Given the description of an element on the screen output the (x, y) to click on. 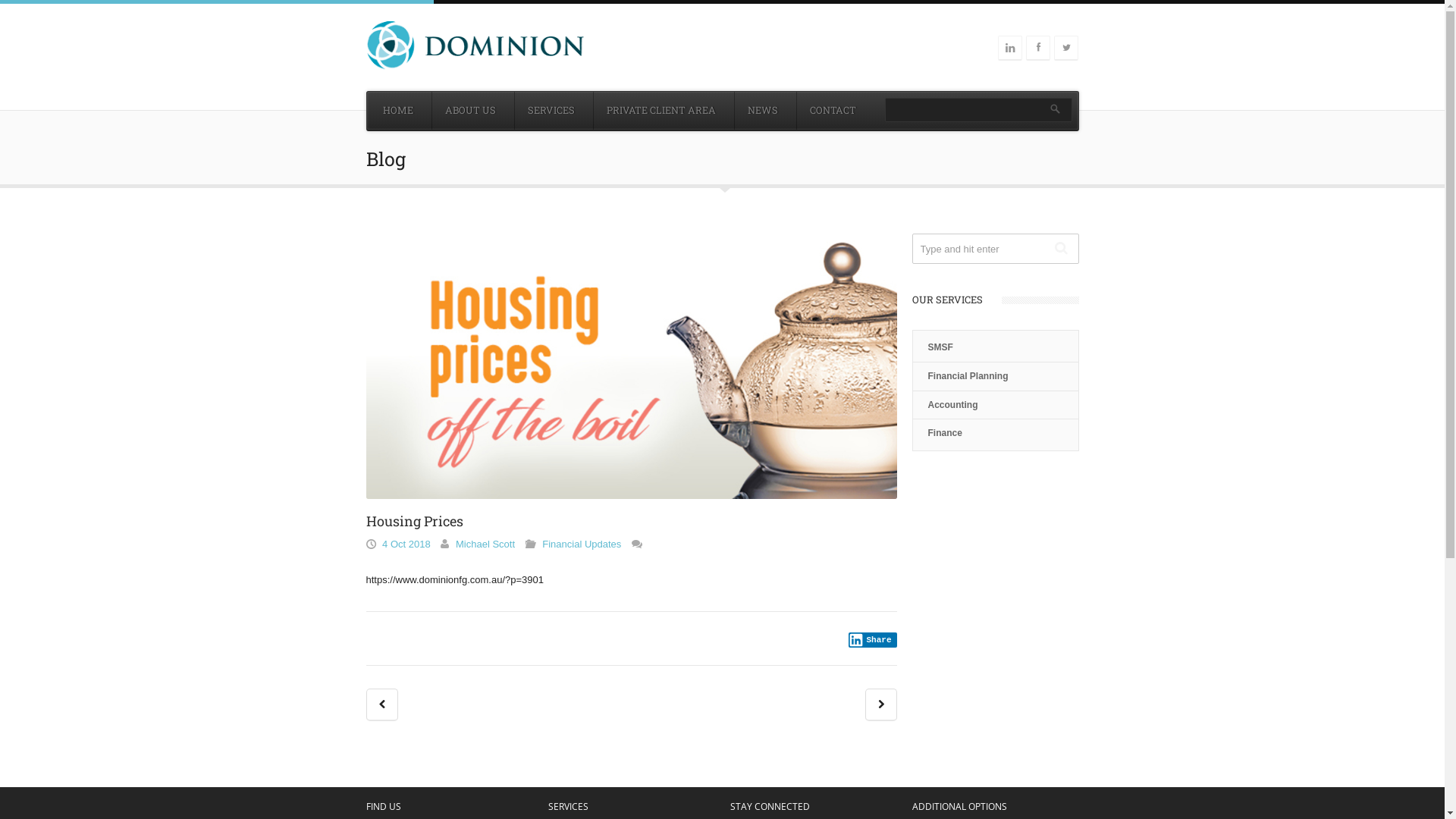
Twitter Element type: hover (1065, 58)
SMSF Element type: text (940, 347)
Linkedin Element type: hover (1009, 47)
Facebook Element type: hover (1037, 58)
Financial Planning Element type: text (968, 375)
ABOUT US Element type: text (470, 110)
Financial Updates Element type: text (581, 543)
Michael Scott Element type: text (484, 543)
CONTACT Element type: text (831, 110)
PRIVATE CLIENT AREA Element type: text (660, 110)
Finance Element type: text (945, 432)
NEWS Element type: text (761, 110)
SERVICES Element type: text (550, 110)
Accounting Element type: text (953, 404)
search Element type: text (1055, 108)
Share Element type: text (872, 639)
HOME Element type: text (397, 110)
